Given the description of an element on the screen output the (x, y) to click on. 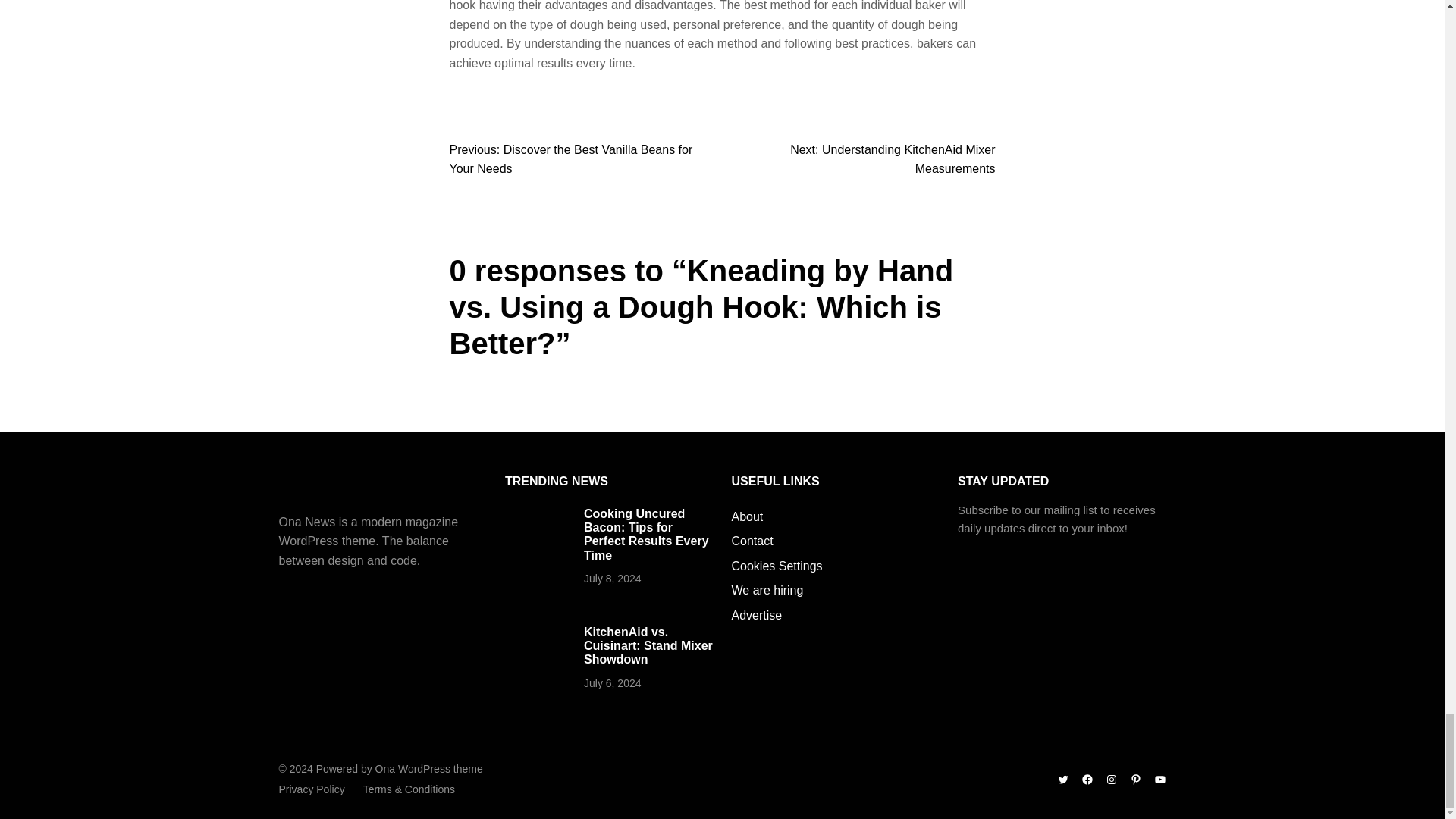
Privacy Policy (312, 789)
Contact (751, 541)
Cookies Settings (776, 566)
Cooking Uncured Bacon: Tips for Perfect Results Every Time (646, 533)
About (746, 516)
Instagram (1111, 779)
Advertise (755, 615)
KitchenAid vs. Cuisinart: Stand Mixer Showdown (648, 645)
Pinterest (1135, 779)
Twitter (1062, 779)
We are hiring (766, 590)
Ona WordPress theme (429, 768)
Previous: Discover the Best Vanilla Beans for Your Needs (570, 159)
Facebook (1087, 779)
Next: Understanding KitchenAid Mixer Measurements (892, 159)
